Given the description of an element on the screen output the (x, y) to click on. 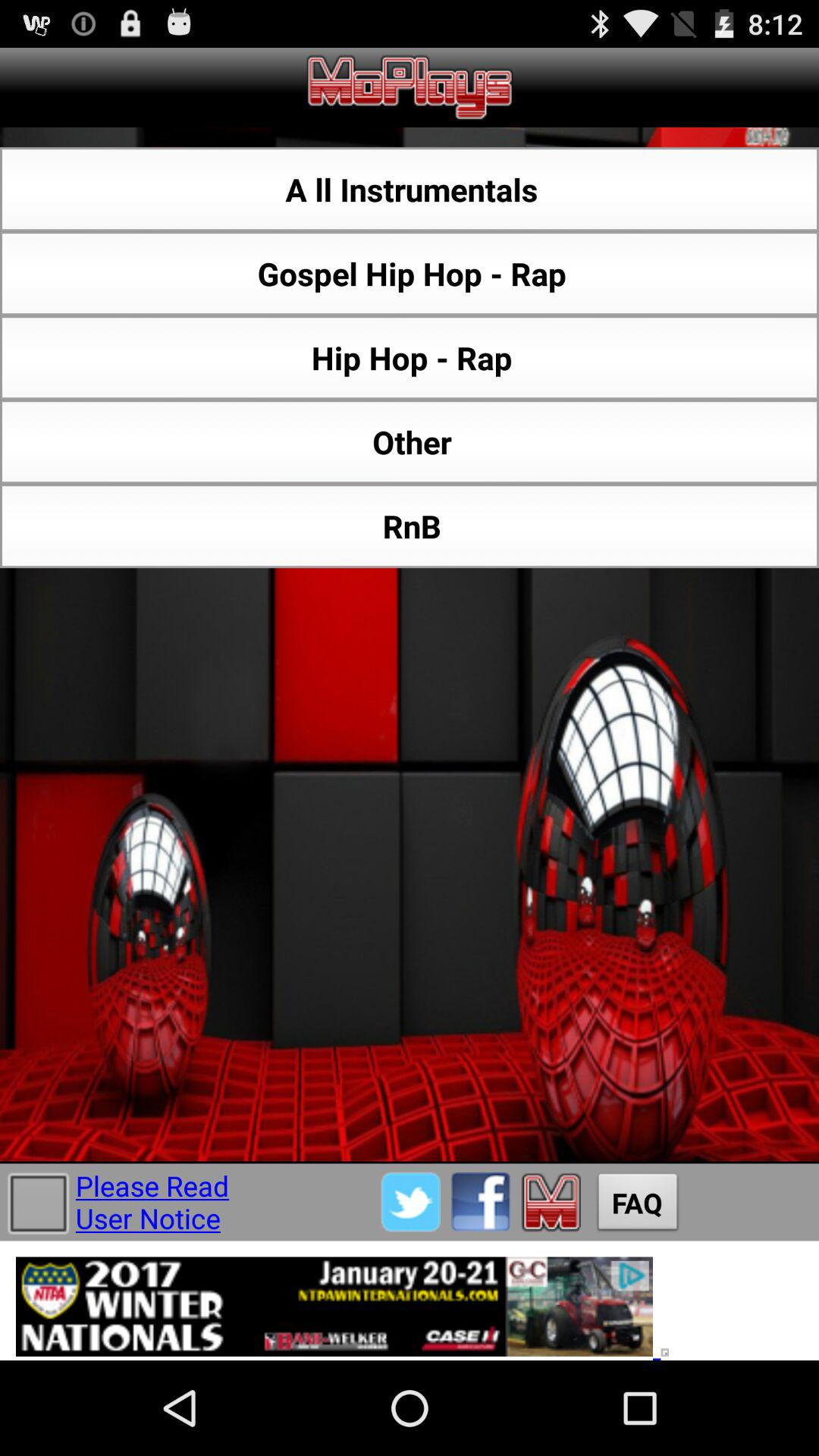
advertisement (409, 1300)
